Given the description of an element on the screen output the (x, y) to click on. 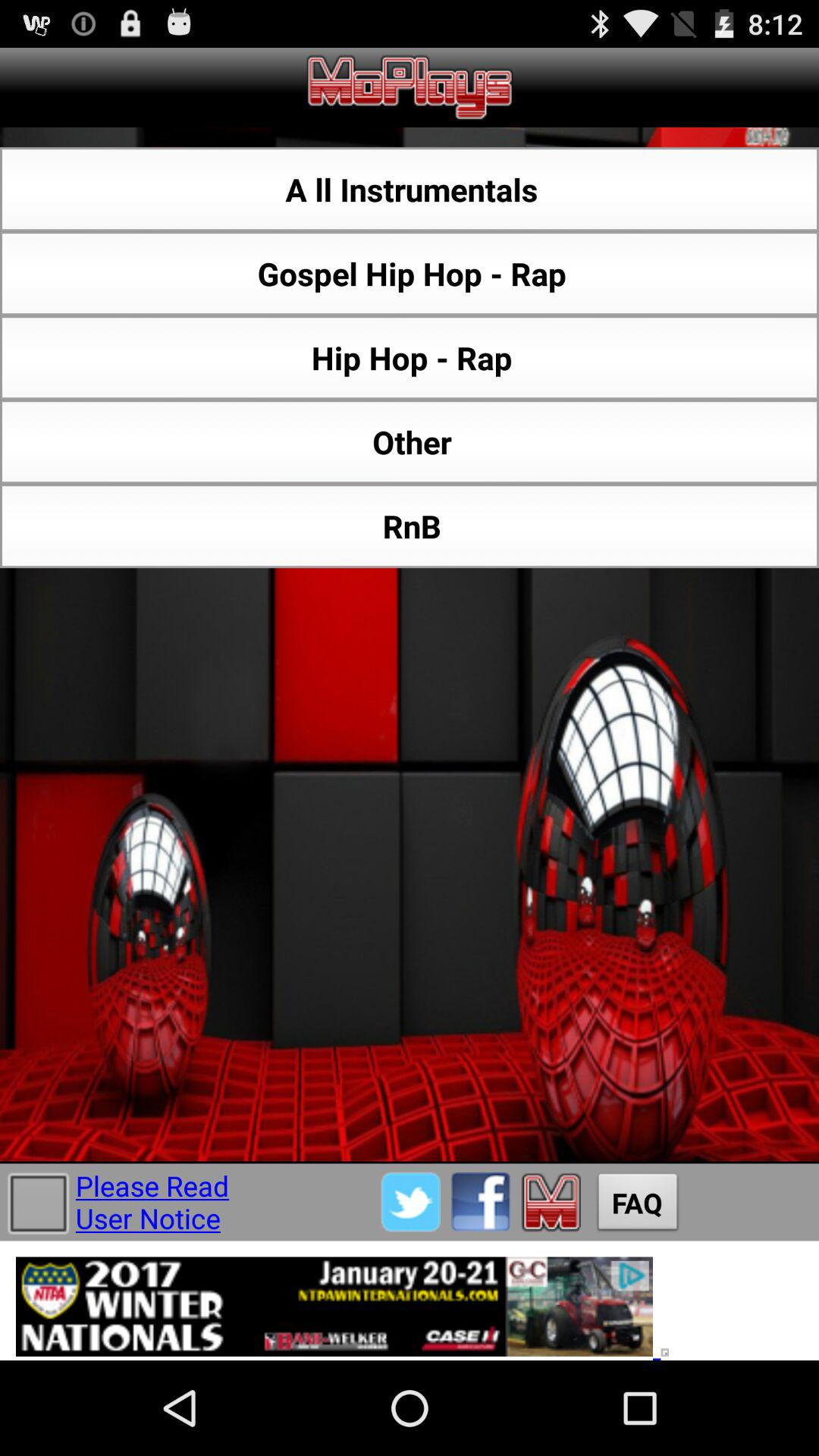
advertisement (409, 1300)
